Given the description of an element on the screen output the (x, y) to click on. 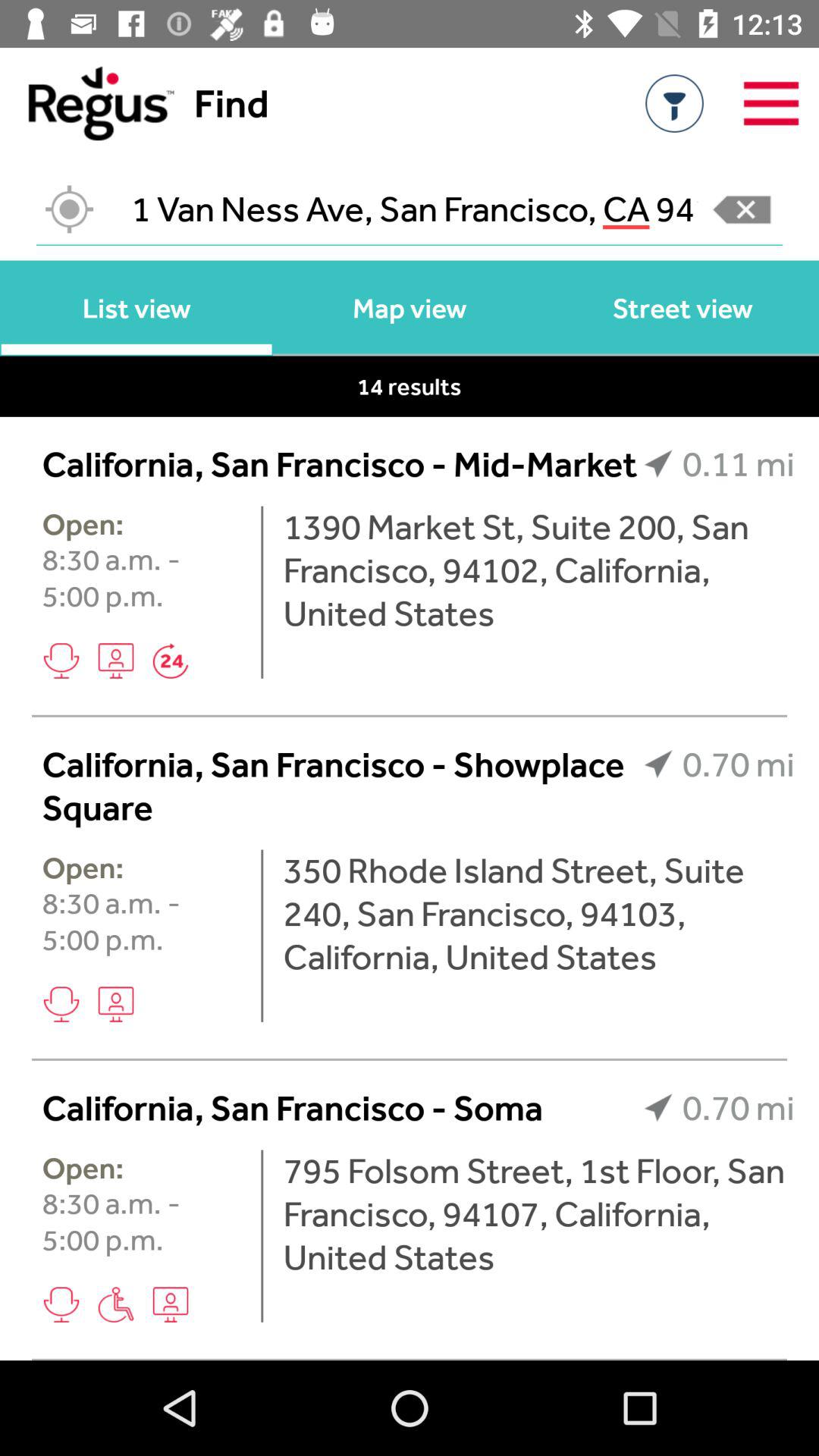
select the 795 folsom street (538, 1213)
